Given the description of an element on the screen output the (x, y) to click on. 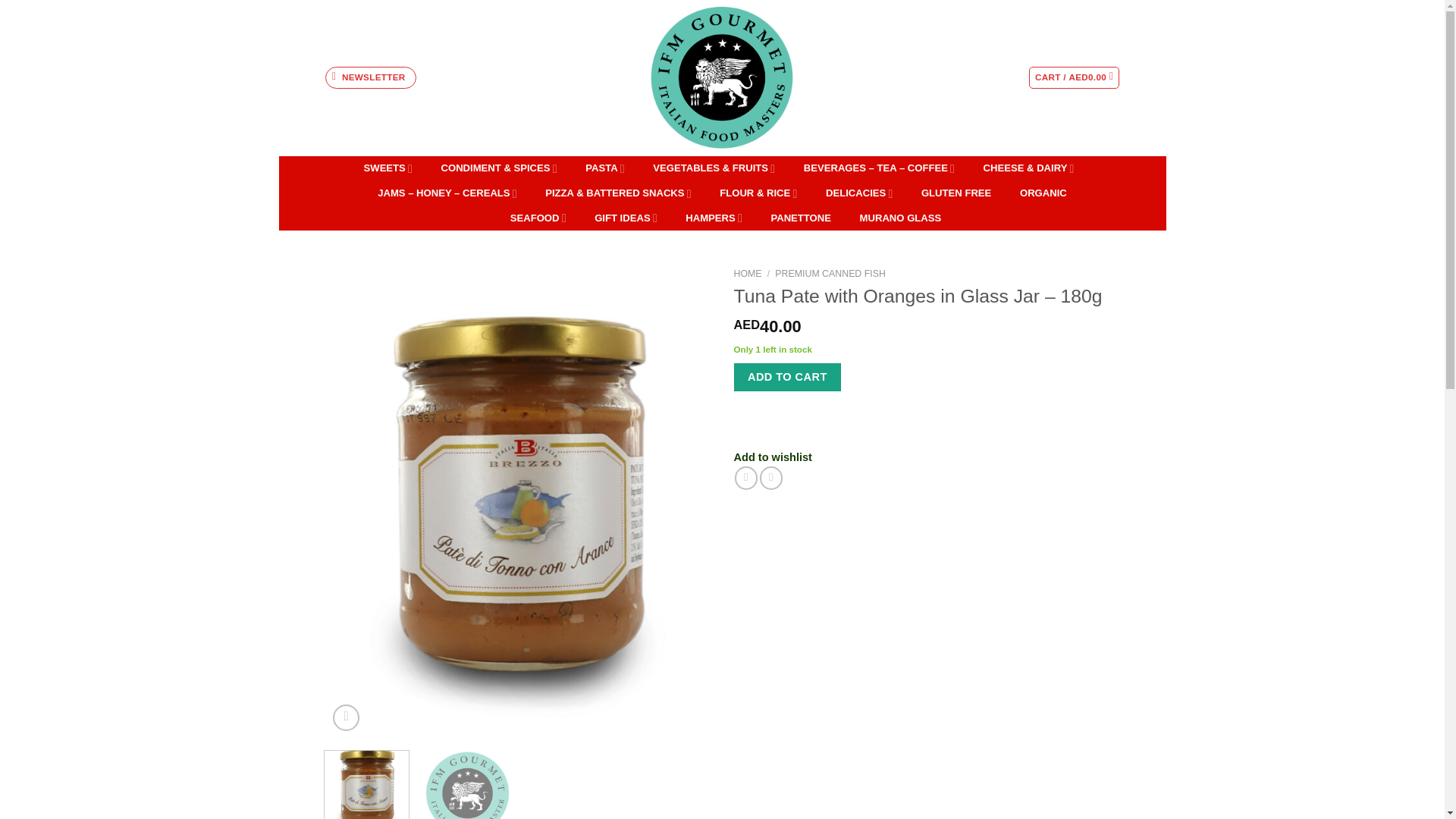
PASTA (604, 168)
SWEETS (388, 168)
Tuna Pate with Oranges in Glass Jar - 180g 3 (467, 785)
Share on Facebook (746, 477)
NEWSLETTER (370, 77)
Zoom (346, 717)
Email to a Friend (771, 477)
OUR BLOG (370, 77)
